Given the description of an element on the screen output the (x, y) to click on. 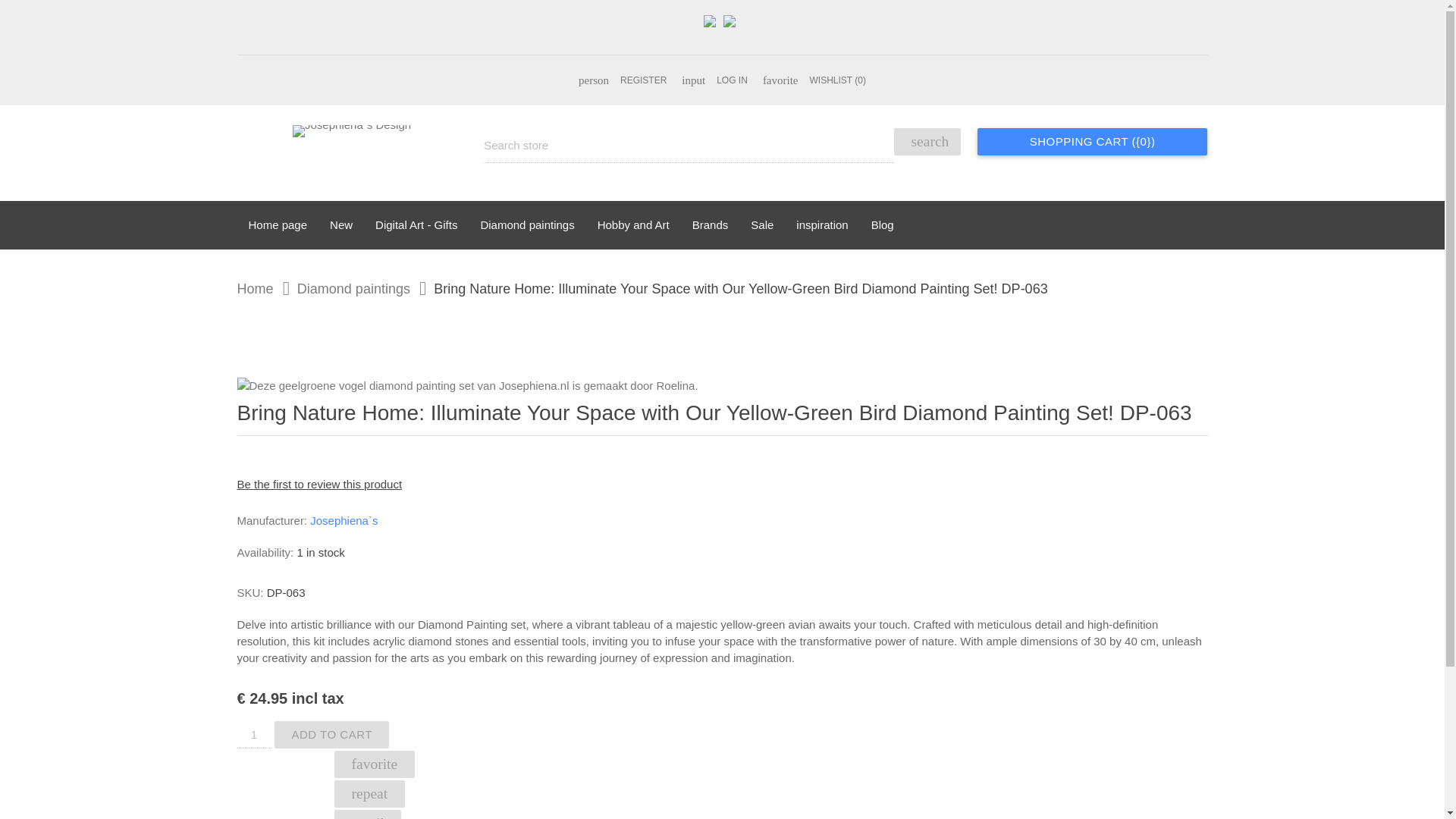
Diamond paintings (343, 288)
search (926, 141)
Nederlands (732, 27)
1 (252, 734)
English (712, 27)
